Given the description of an element on the screen output the (x, y) to click on. 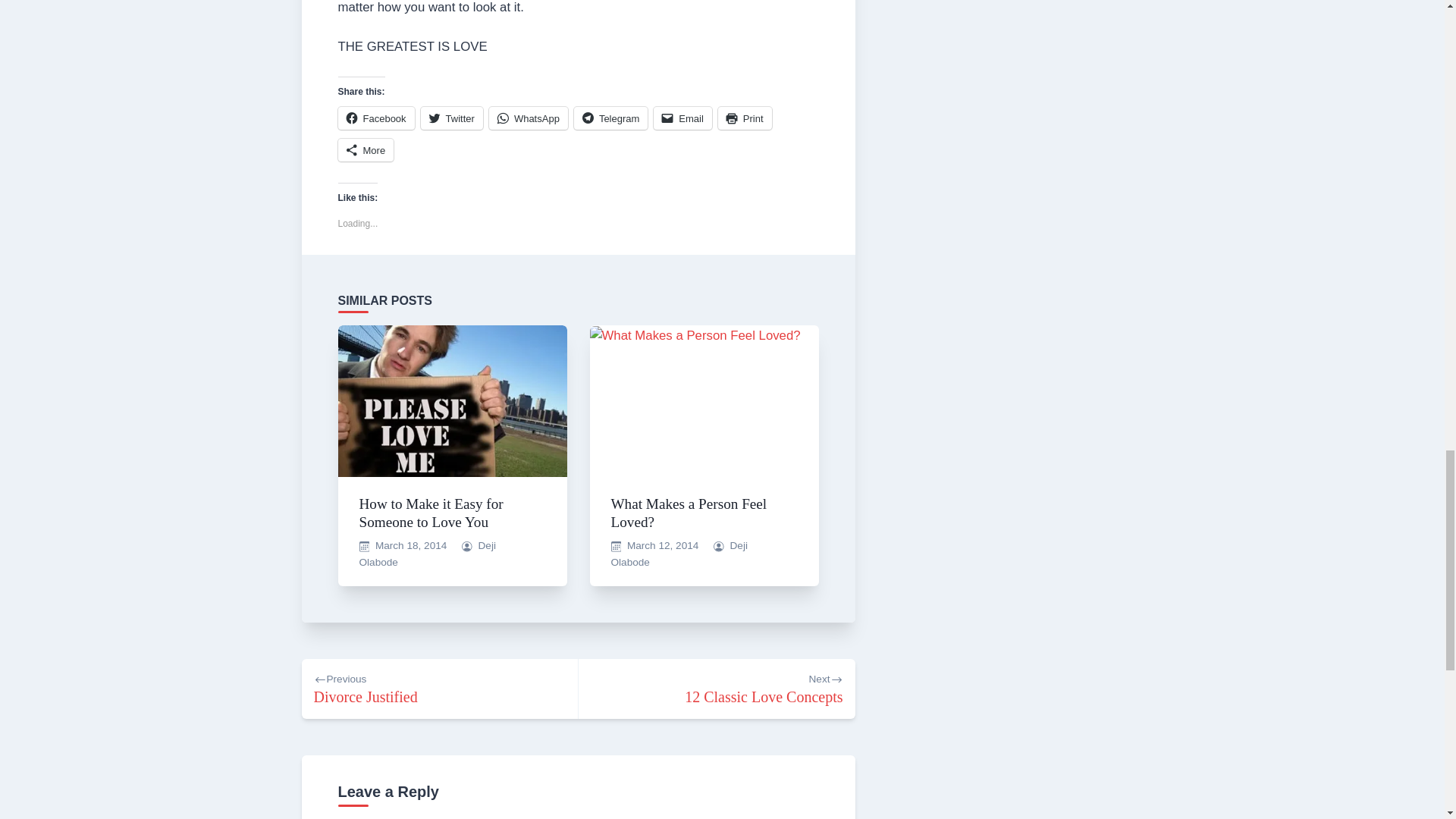
Click to share on WhatsApp (528, 118)
WhatsApp (528, 118)
Deji Olabode (427, 553)
Click to share on Telegram (610, 118)
Comment Form (577, 814)
Click to share on Twitter (451, 118)
More (716, 689)
Email (365, 149)
Click to share on Facebook (682, 118)
